Given the description of an element on the screen output the (x, y) to click on. 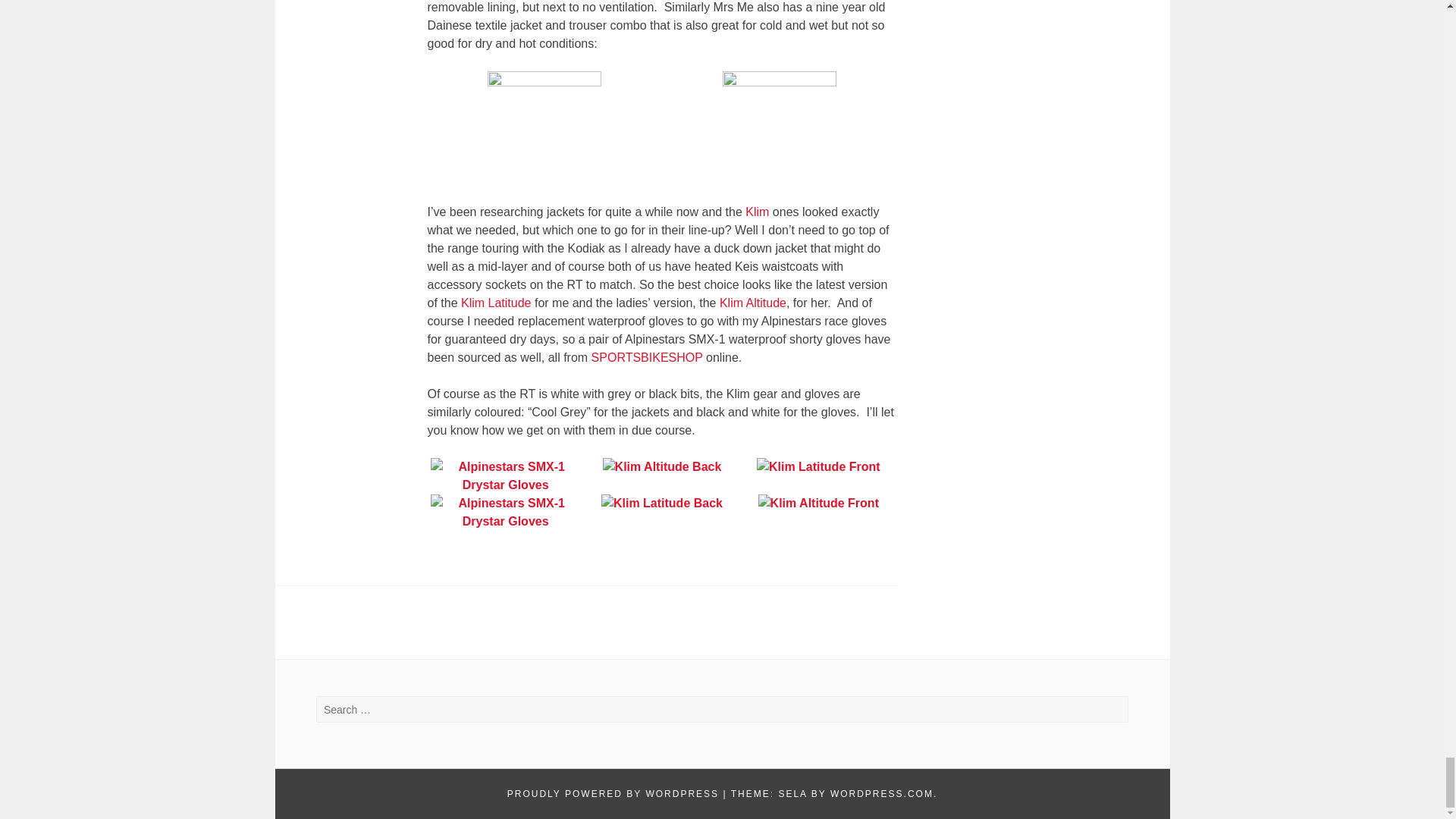
A Semantic Personal Publishing Platform (612, 793)
